Given the description of an element on the screen output the (x, y) to click on. 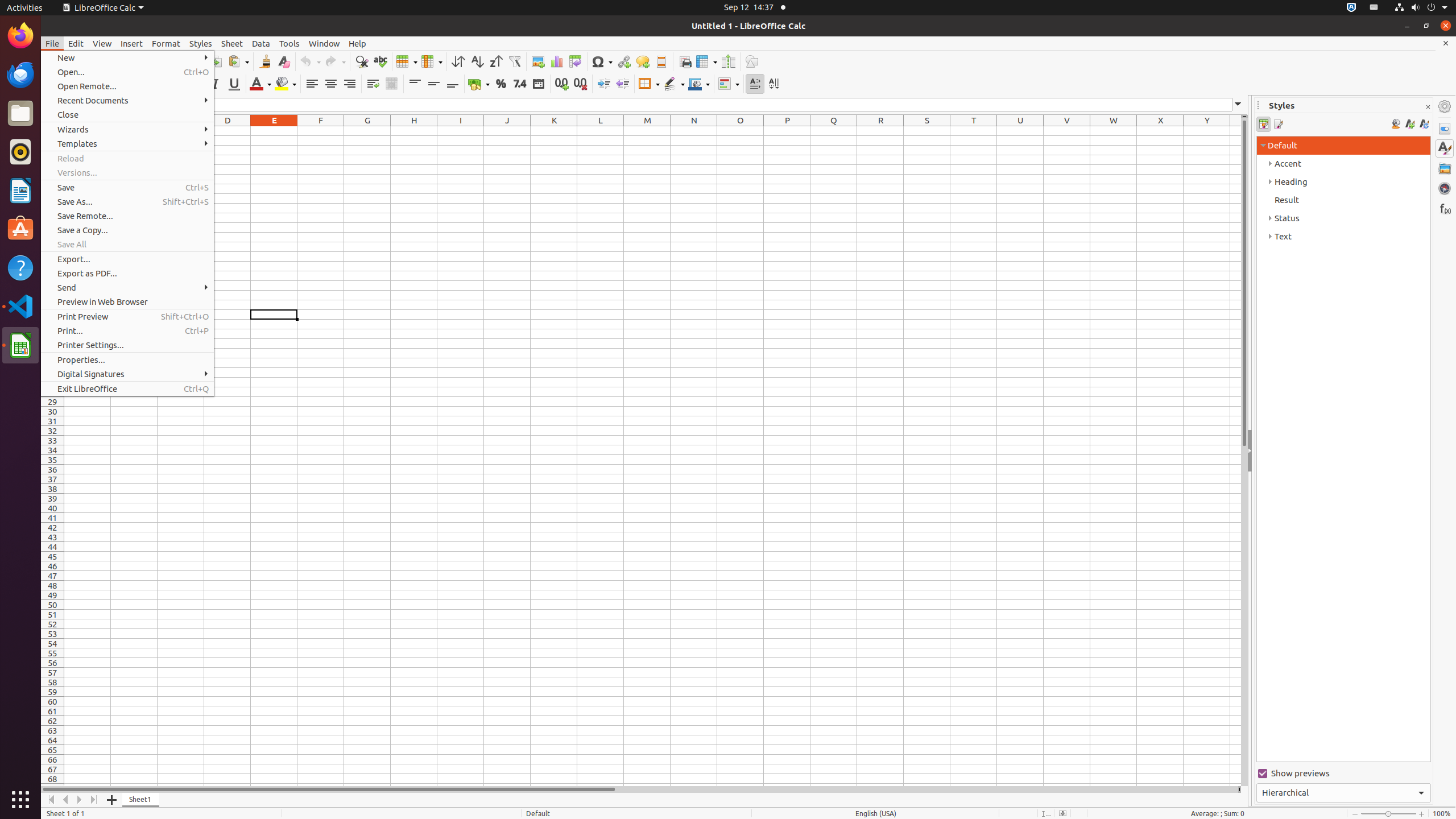
Data Element type: menu (260, 43)
Paste Element type: push-button (237, 61)
Chart Element type: push-button (556, 61)
Styles Element type: radio-button (1444, 148)
Expand Formula Bar Element type: push-button (1237, 104)
